Given the description of an element on the screen output the (x, y) to click on. 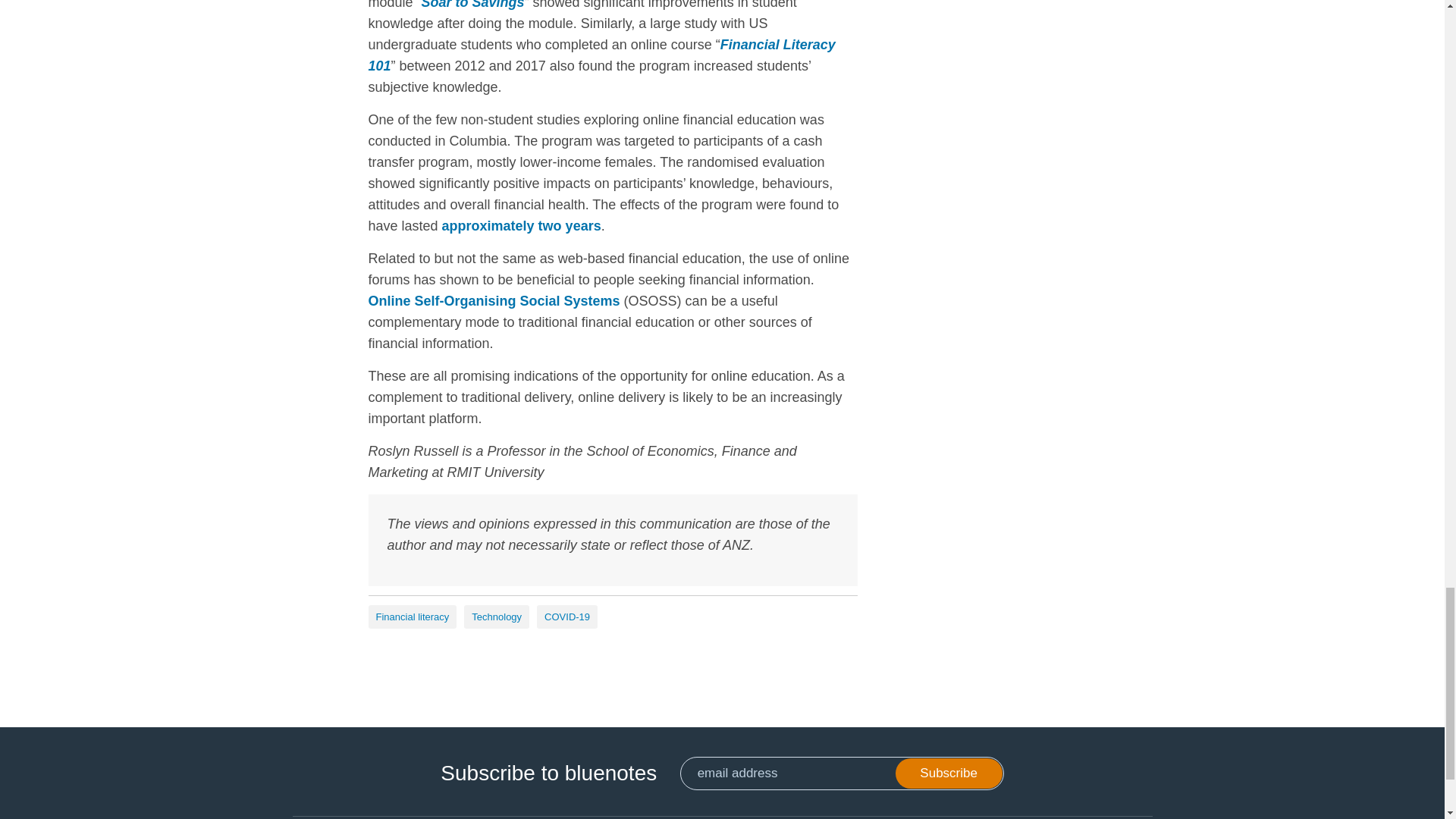
Technology (496, 616)
Financial literacy (412, 616)
COVID-19 (566, 616)
